Given the description of an element on the screen output the (x, y) to click on. 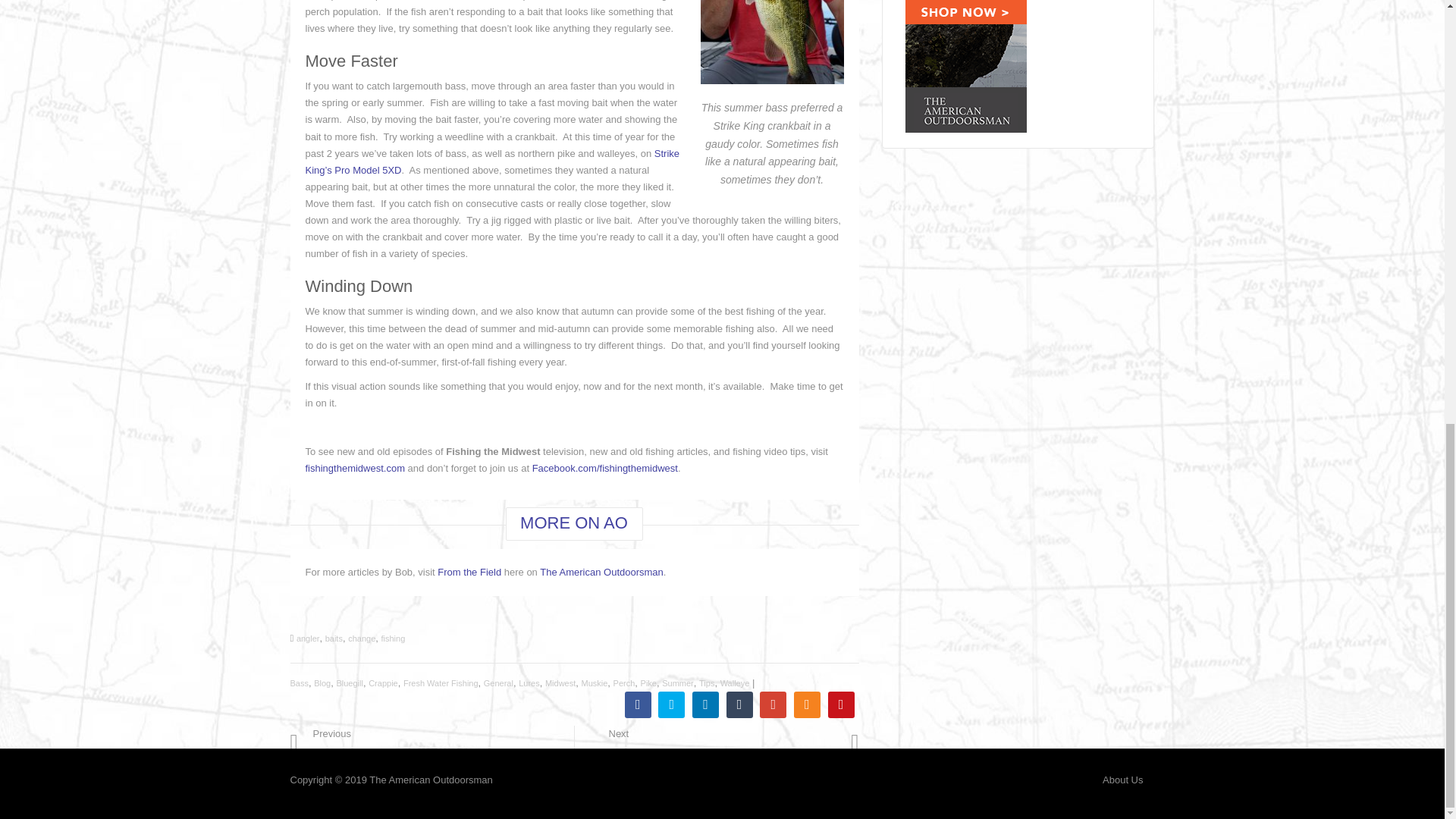
Switch Species for More Fish (722, 742)
fishingthemidwest.com (354, 468)
The American Outdoorsman (601, 572)
Share on Facebook (637, 704)
angler (308, 637)
Pin this (841, 704)
Share on Tumblr (739, 704)
Share on LinkedIn (706, 704)
Share on Blogger (807, 704)
Share on Google Plus (773, 704)
Explosive Largemouth (385, 745)
From the Field (469, 572)
Share on Twitter (671, 704)
